Given the description of an element on the screen output the (x, y) to click on. 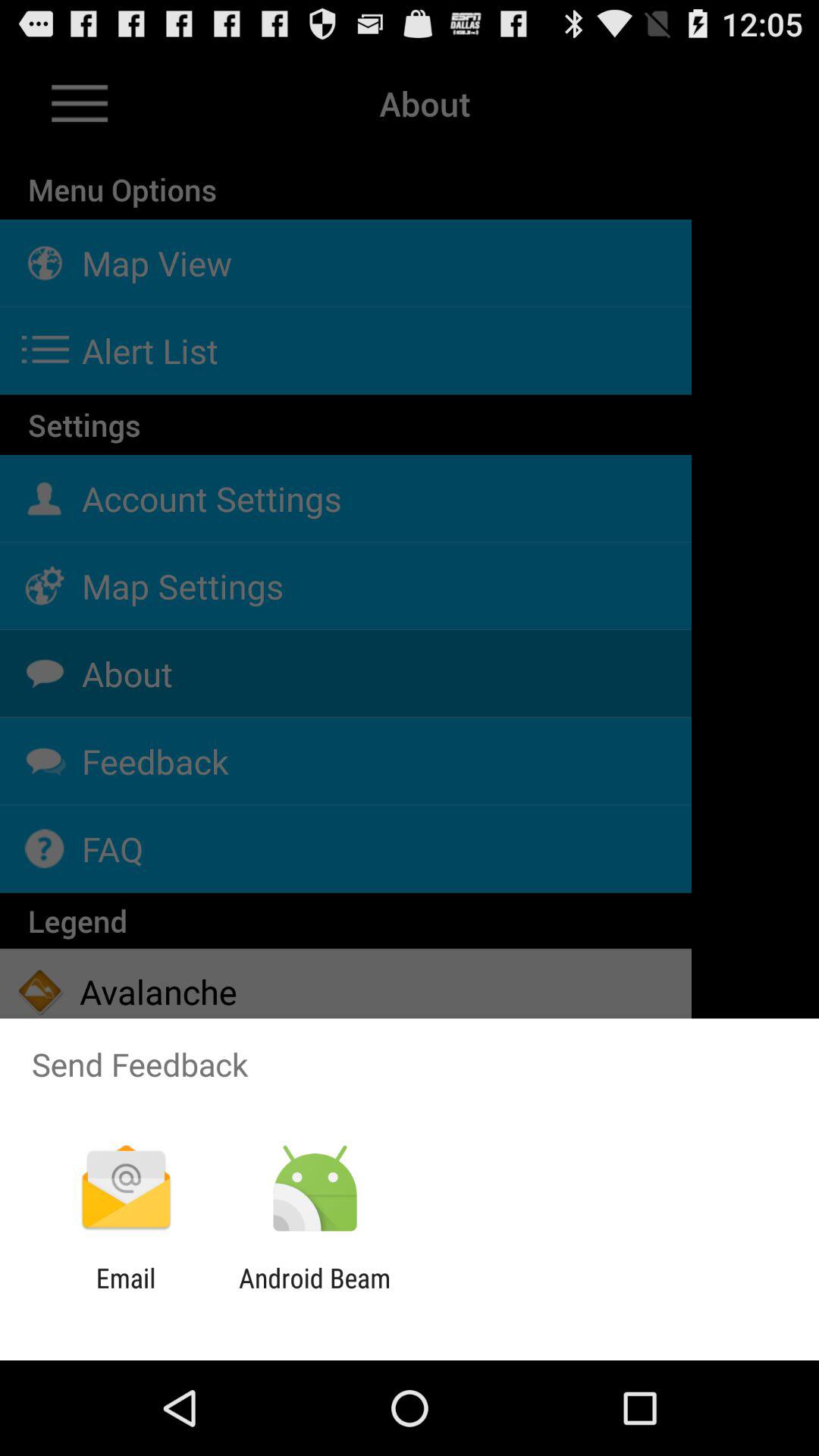
select the android beam (314, 1293)
